Given the description of an element on the screen output the (x, y) to click on. 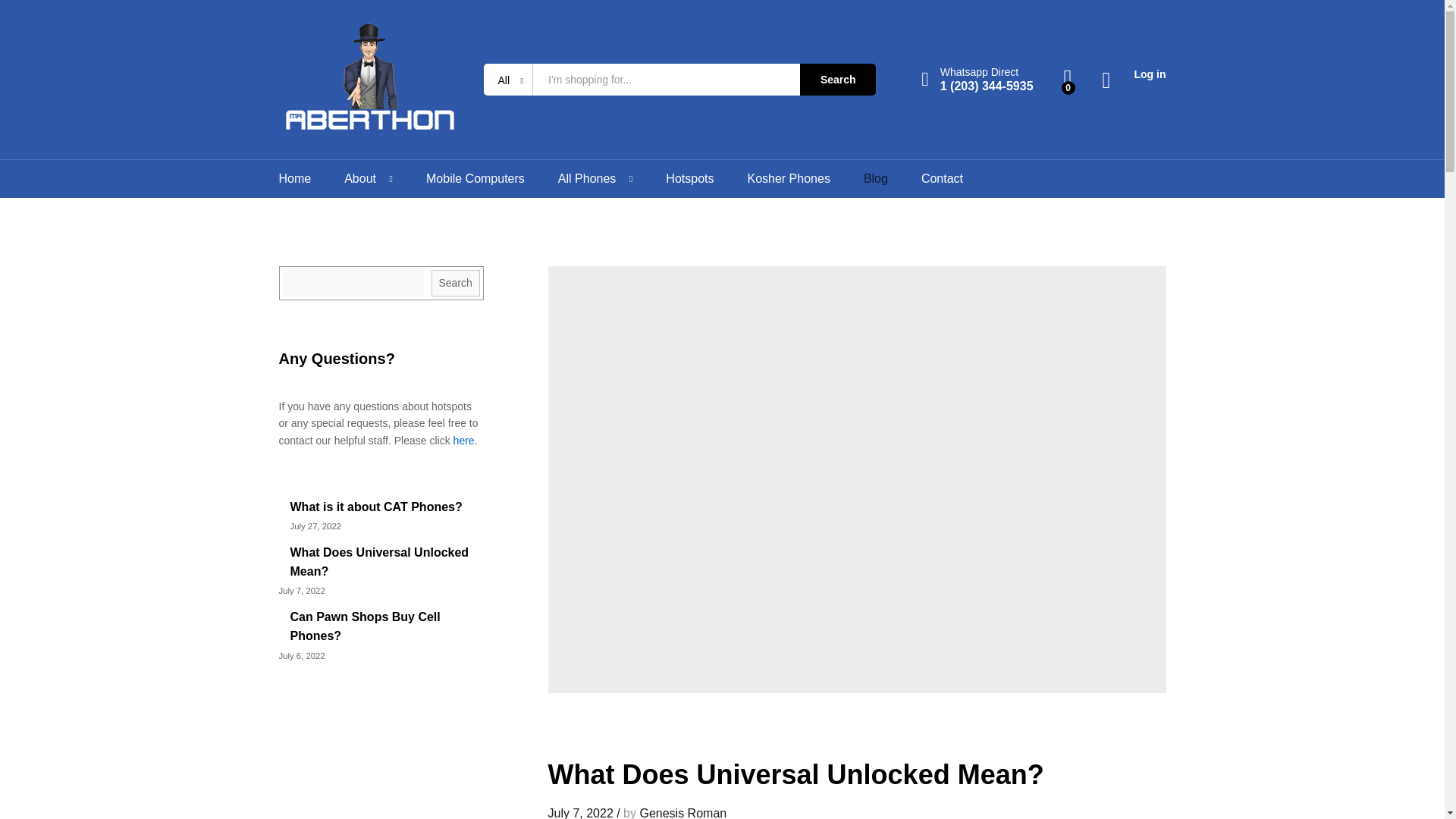
Hotspots (689, 178)
Home (295, 178)
Kosher Phones (787, 178)
Genesis Roman (682, 812)
Log in (1134, 74)
All Phones (586, 178)
Blog (875, 178)
Mobile Computers (475, 178)
July 7, 2022 (579, 812)
Search (837, 79)
